Given the description of an element on the screen output the (x, y) to click on. 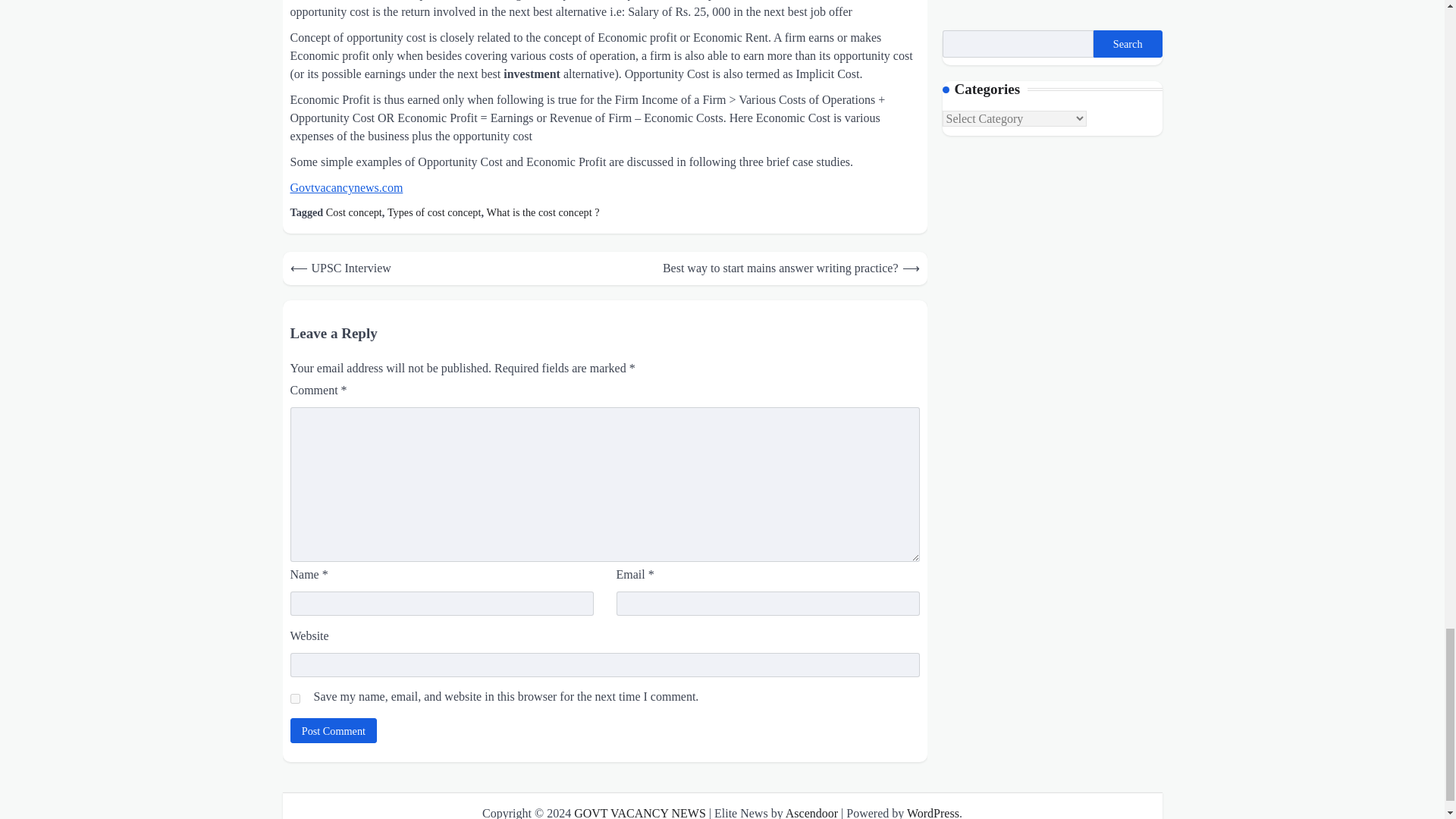
What is the cost concept ? (542, 212)
Types of cost concept (434, 212)
Post Comment (333, 730)
Cost concept (353, 212)
Govtvacancynews.com (346, 187)
yes (294, 698)
Post Comment (333, 730)
